Given the description of an element on the screen output the (x, y) to click on. 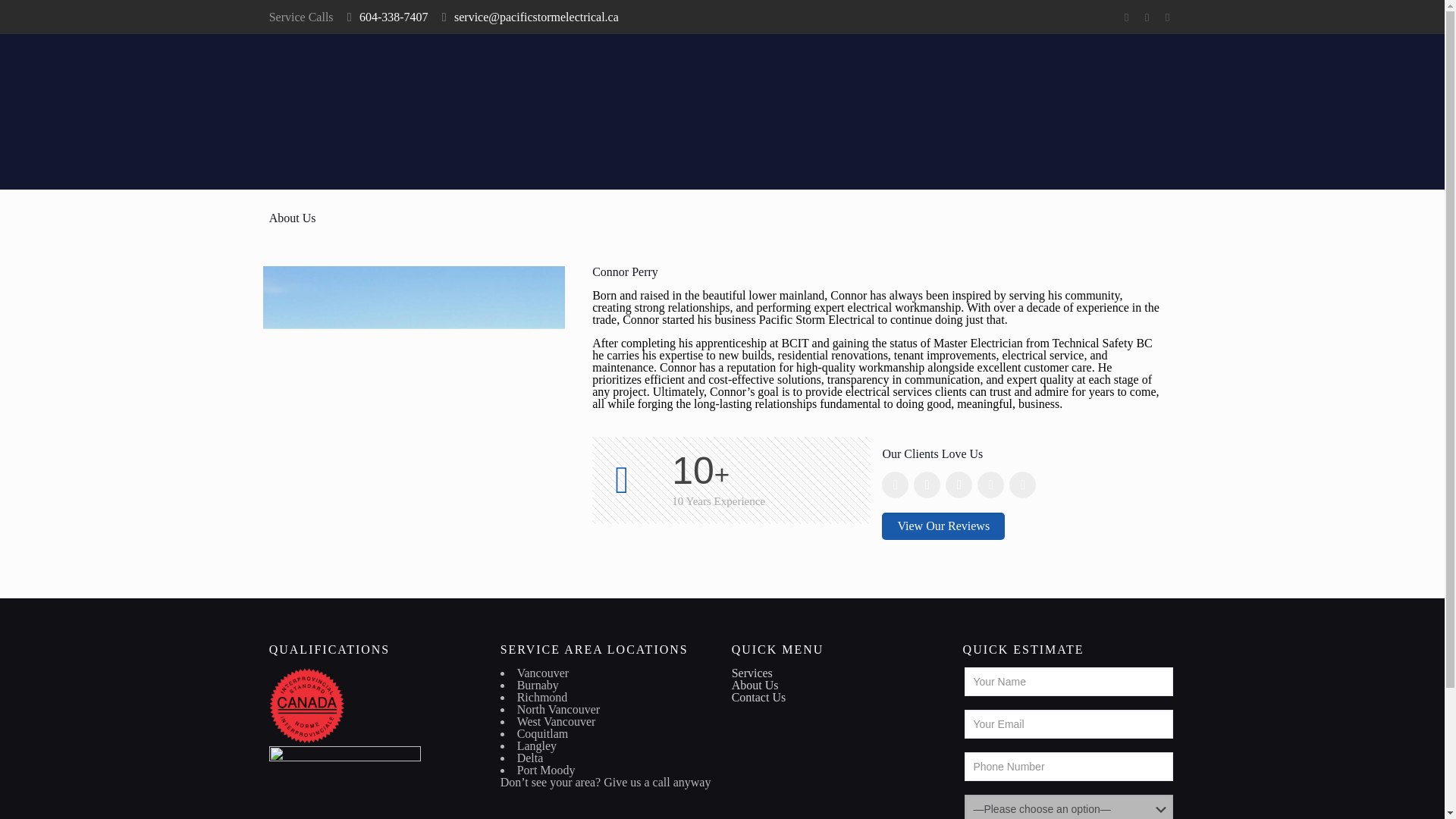
Services (752, 672)
604-338-7407 (393, 16)
Facebook (1126, 17)
Contact Us (759, 697)
About Us (755, 684)
LinkedIn (1146, 17)
View Our Reviews (943, 525)
Instagram (1166, 17)
